Given the description of an element on the screen output the (x, y) to click on. 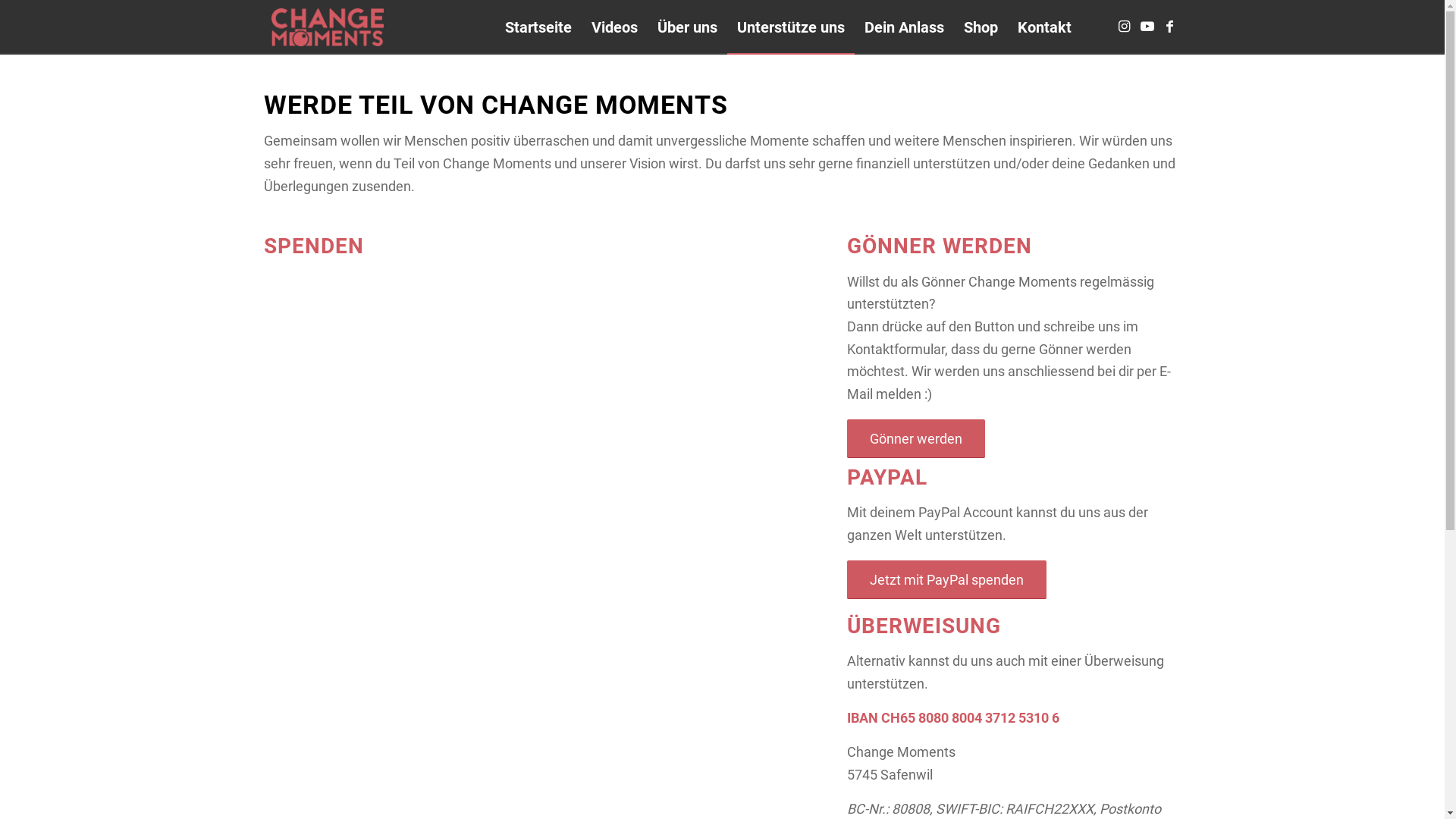
Facebook Element type: hover (1169, 26)
Instagram Element type: hover (1124, 26)
Startseite Element type: text (537, 26)
Shop Element type: text (980, 26)
Kontakt Element type: text (1043, 26)
Youtube Element type: hover (1146, 26)
Dein Anlass Element type: text (903, 26)
Jetzt mit PayPal spenden Element type: text (946, 579)
Videos Element type: text (613, 26)
